Given the description of an element on the screen output the (x, y) to click on. 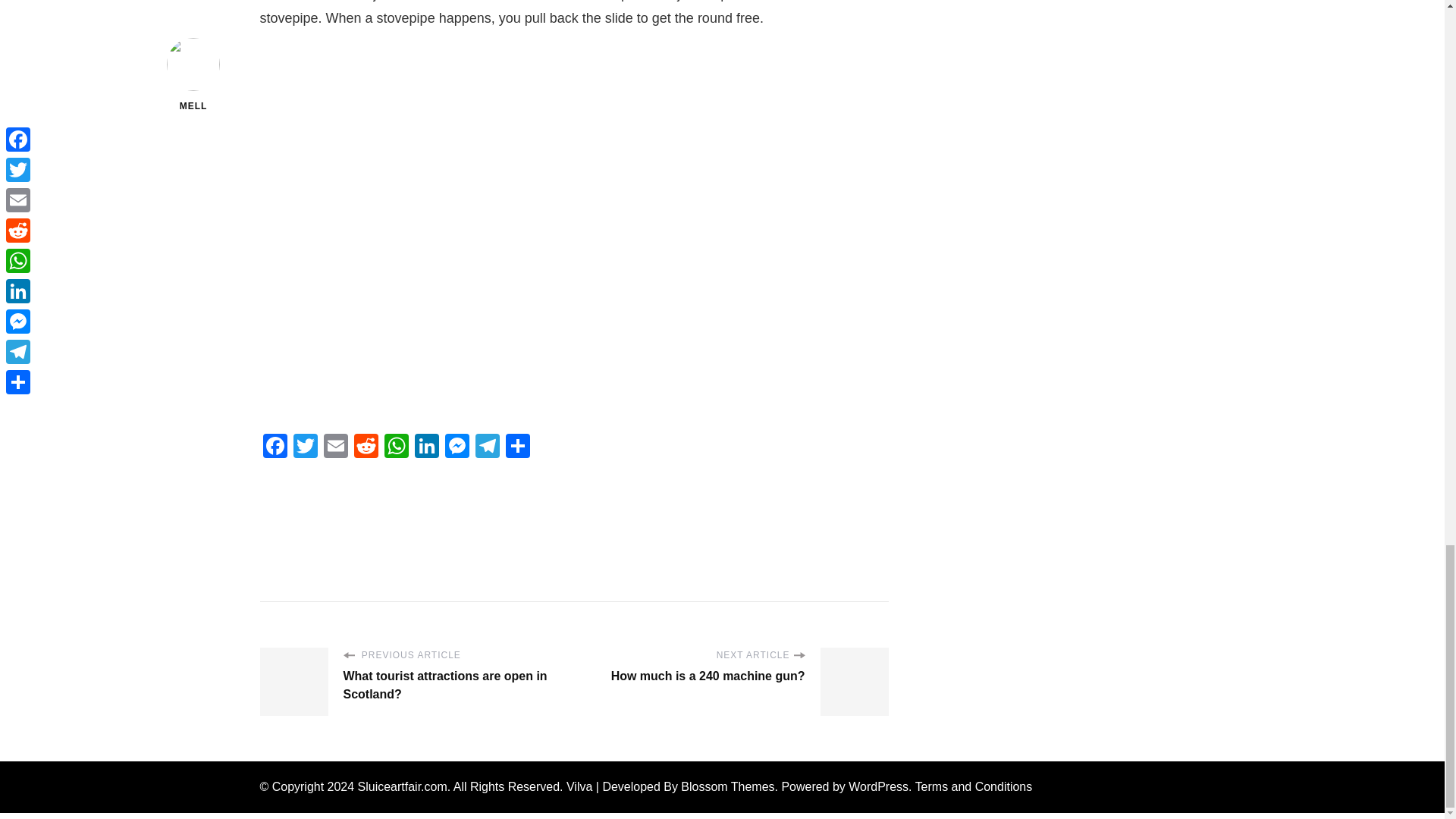
Reddit (365, 447)
Twitter (304, 447)
Reddit (365, 447)
Telegram (486, 447)
WhatsApp (395, 447)
Facebook (274, 447)
Facebook (274, 447)
Messenger (456, 447)
Email (335, 447)
Blossom Themes (727, 786)
